Given the description of an element on the screen output the (x, y) to click on. 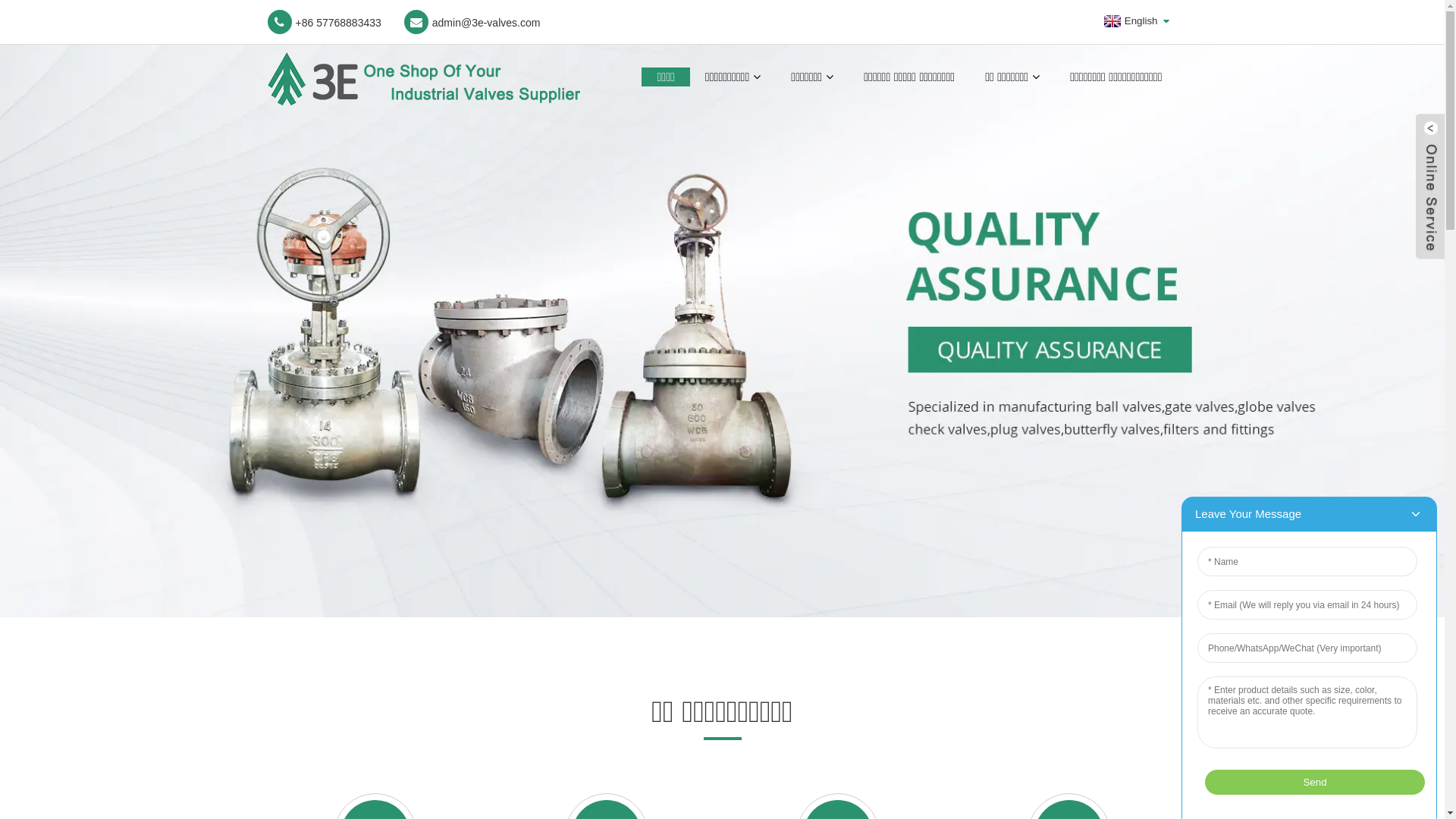
admin@3e-valves.com Element type: text (472, 21)
English Element type: text (1128, 21)
